Given the description of an element on the screen output the (x, y) to click on. 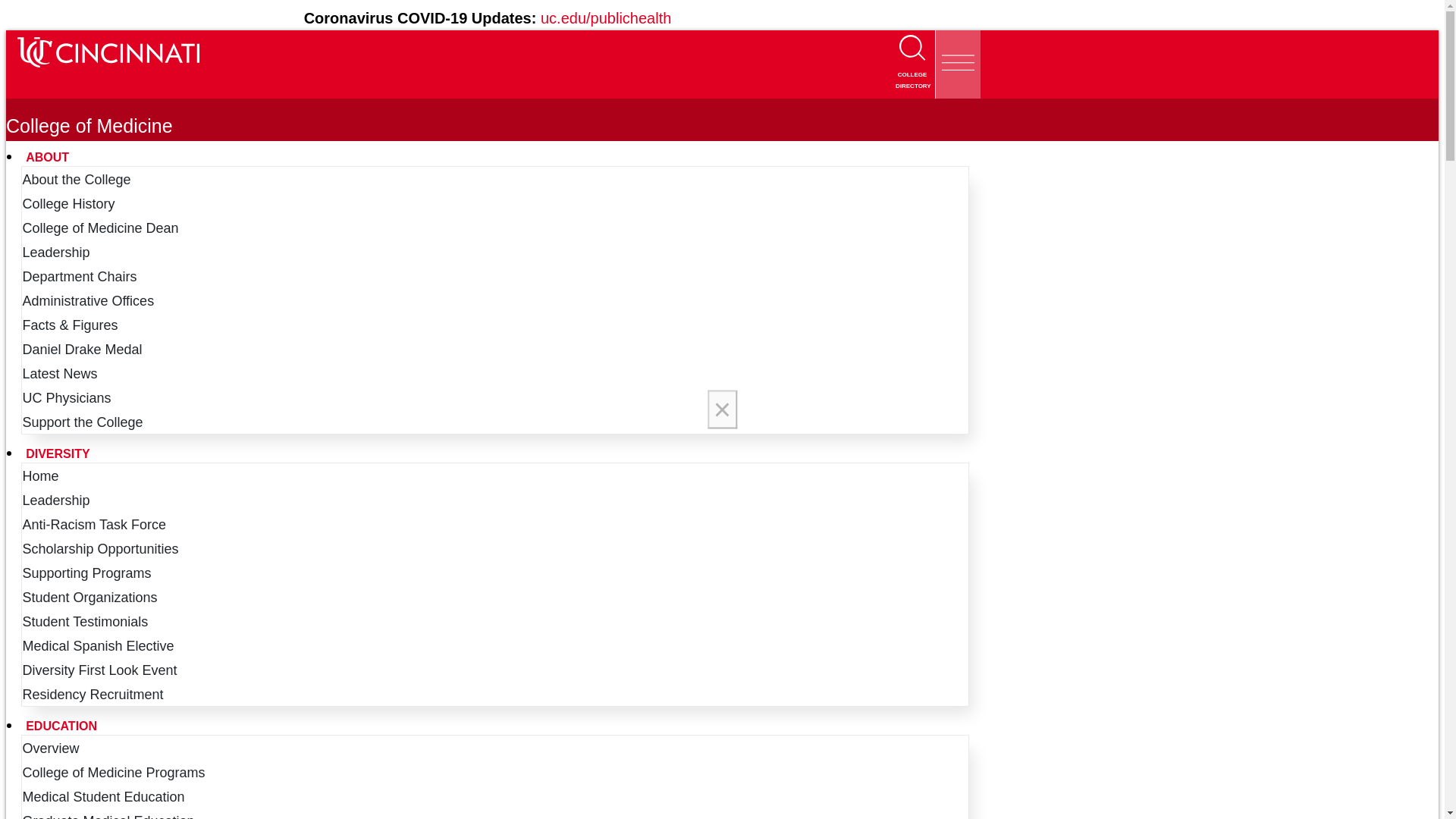
Medical Spanish Elective (102, 645)
Department Chairs (84, 276)
Student Testimonials (89, 621)
Overview (55, 748)
Administrative Offices (93, 300)
Graduate Medical Education (113, 816)
EDUCATION (495, 725)
Medical Student Education (108, 796)
Residency Recruitment (97, 694)
College of Medicine Dean (105, 227)
Anti-Racism Task Force (99, 524)
ABOUT (495, 157)
Latest News (64, 373)
College History (73, 203)
